Given the description of an element on the screen output the (x, y) to click on. 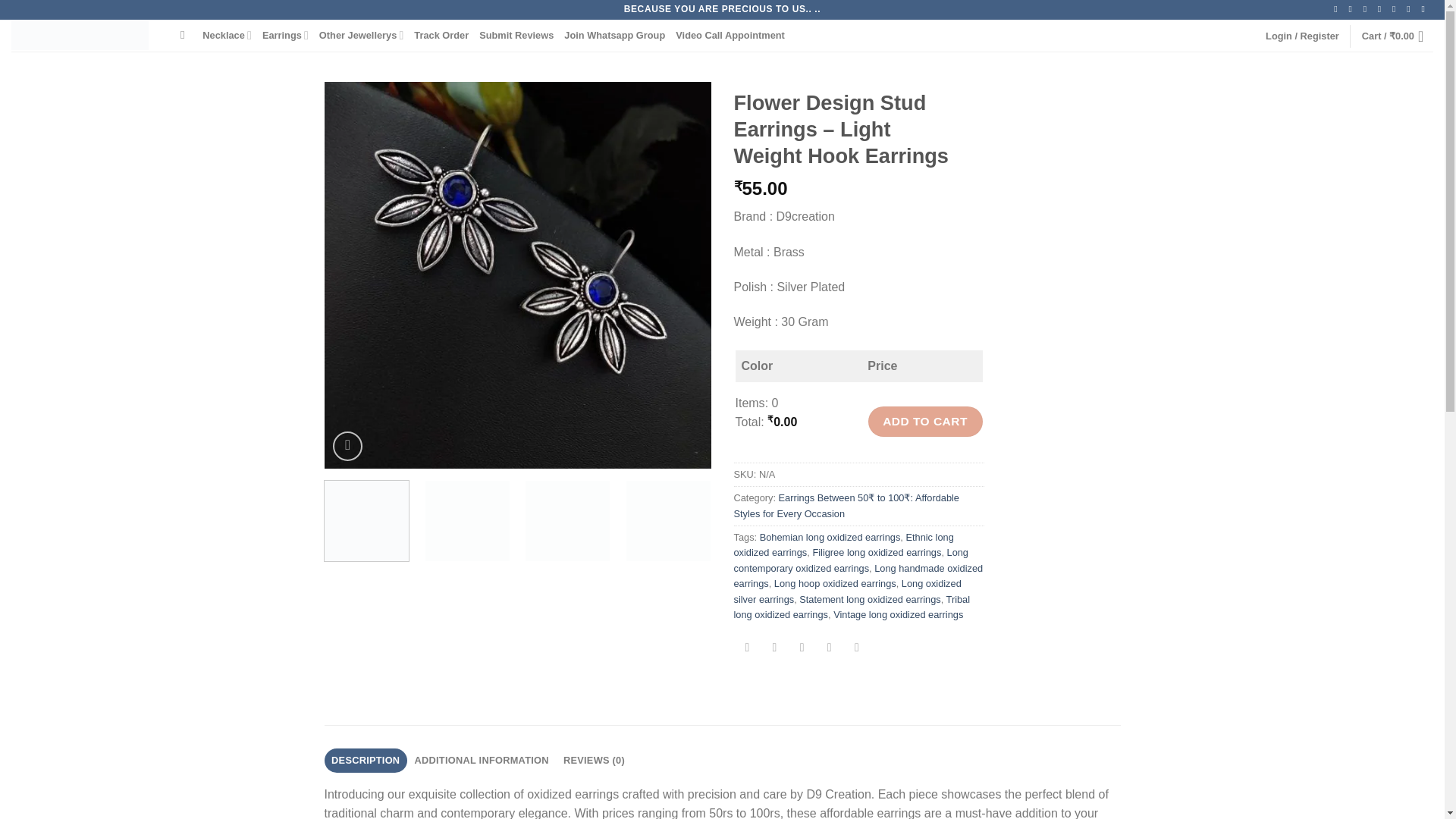
Earrings (285, 34)
Other Jewellerys (360, 34)
Login (1302, 35)
Submit Reviews (516, 35)
Cart (1396, 36)
Video Call Appointment (729, 35)
Track Order (440, 35)
D9creation - Because you are precious to us.. (84, 35)
Necklace (226, 34)
Join Whatsapp Group (614, 35)
